Given the description of an element on the screen output the (x, y) to click on. 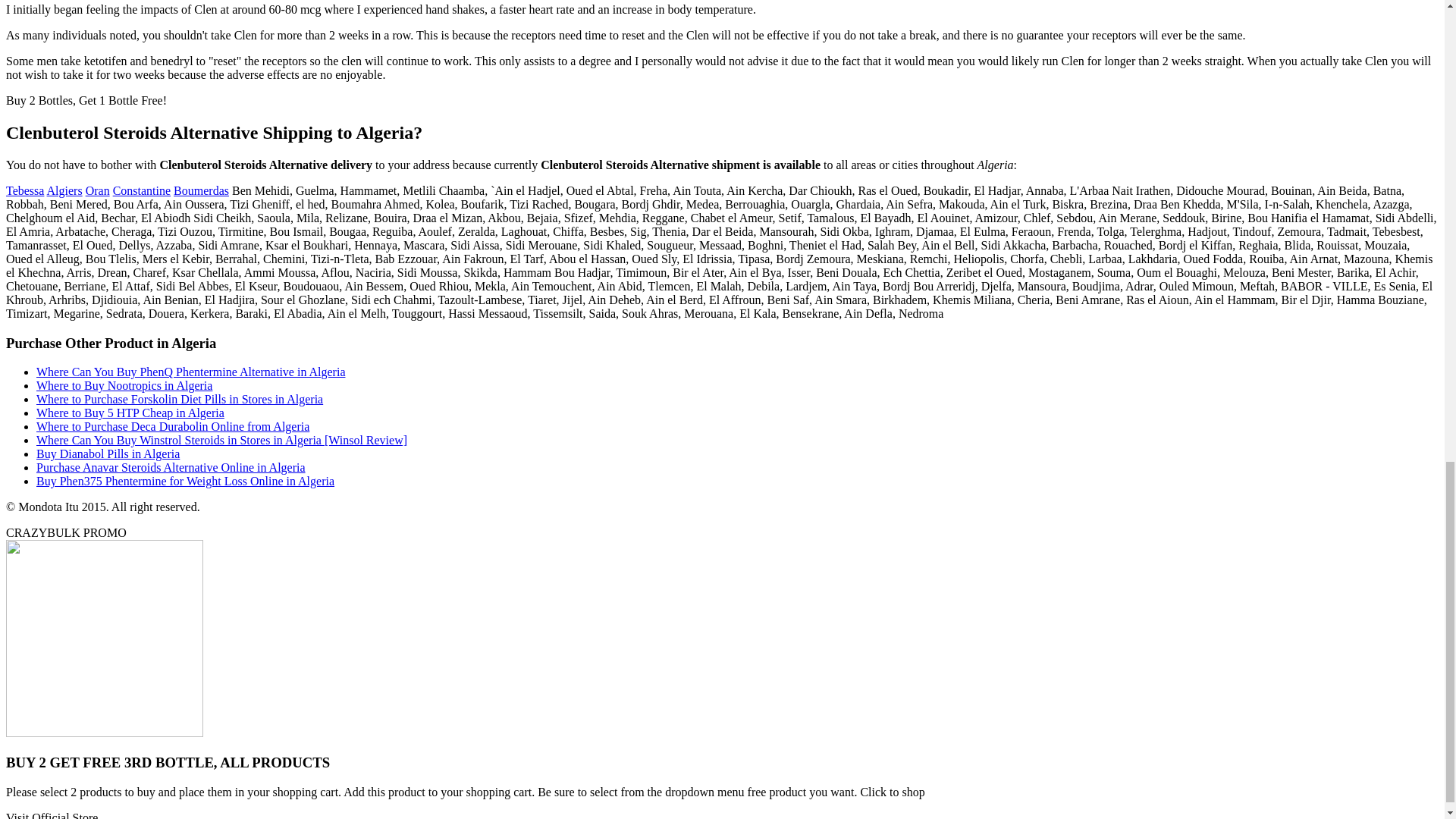
Tebessa (24, 190)
Buy Clenbuterol Steroids Alternative in Boumerdas (200, 190)
Where to Buy Nootropics in Algeria (124, 385)
Buy Clenbuterol Steroids Alternative in Tebessa (24, 190)
Buy Phen375 Phentermine for Weight Loss Online in Algeria (185, 481)
Where Can You Buy PhenQ Phentermine Alternative in Algeria (190, 371)
Where to Buy Nootropics in Algeria (124, 385)
Buy Dianabol Pills in Algeria (107, 453)
Boumerdas (200, 190)
Purchase Anavar Steroids Alternative Online in Algeria (170, 467)
Where to Buy 5 HTP Cheap in Algeria (130, 412)
Where to Purchase Forskolin Diet Pills in Stores in Algeria (179, 399)
Buy Phen375 Phentermine for Weight Loss Online in Algeria (185, 481)
Buy Clenbuterol Steroids Alternative in Oran (97, 190)
Where to Buy 5 HTP Cheap in Algeria (130, 412)
